Given the description of an element on the screen output the (x, y) to click on. 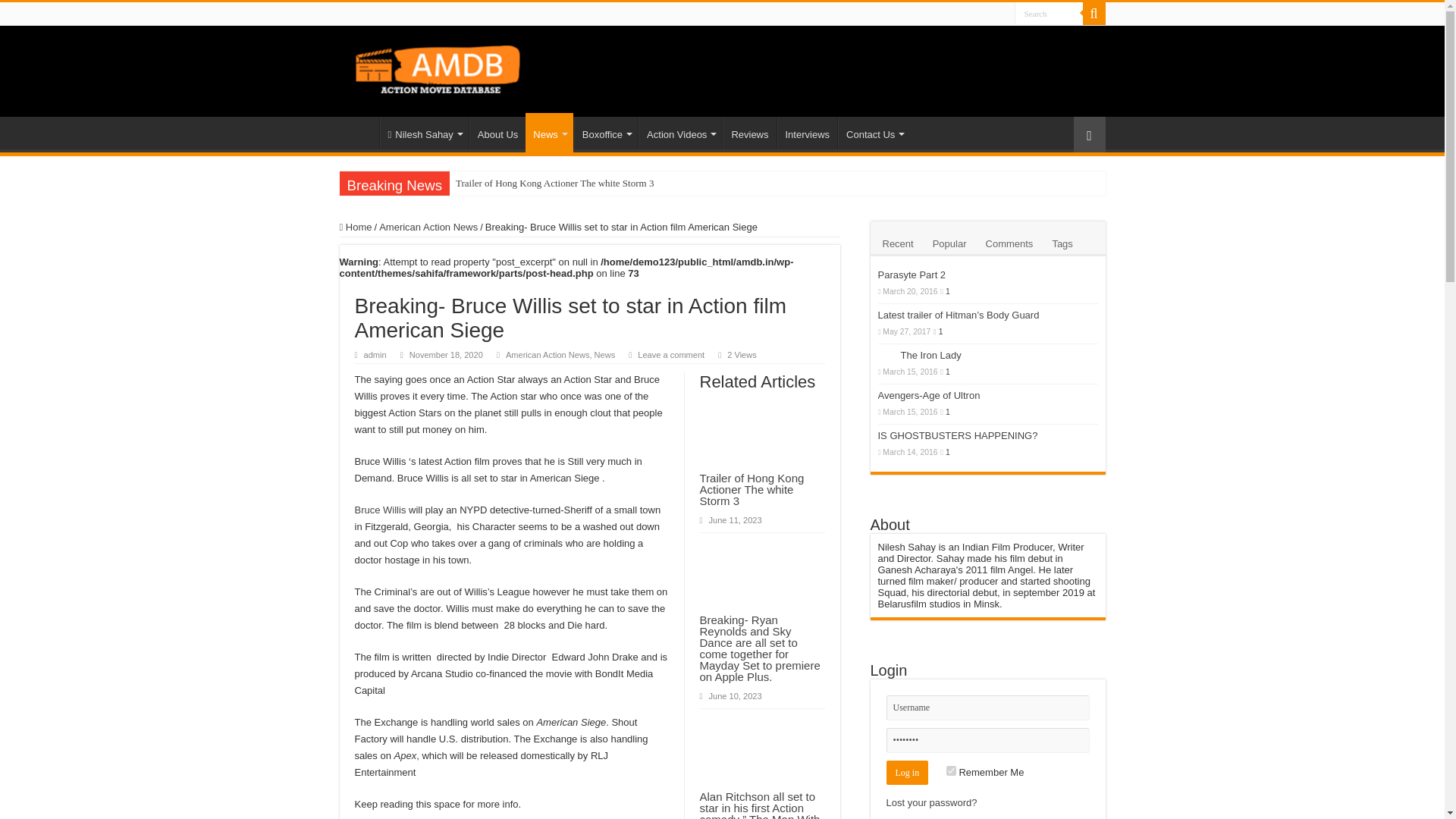
Amdb (452, 66)
Nilesh Sahay (422, 132)
forever (951, 770)
Search (1048, 13)
Log in (906, 772)
About Us (496, 132)
Search (1048, 13)
Search (1094, 13)
Action Videos (680, 132)
Username (987, 707)
Password (987, 740)
Boxoffice (605, 132)
News (549, 132)
Home (358, 132)
